Given the description of an element on the screen output the (x, y) to click on. 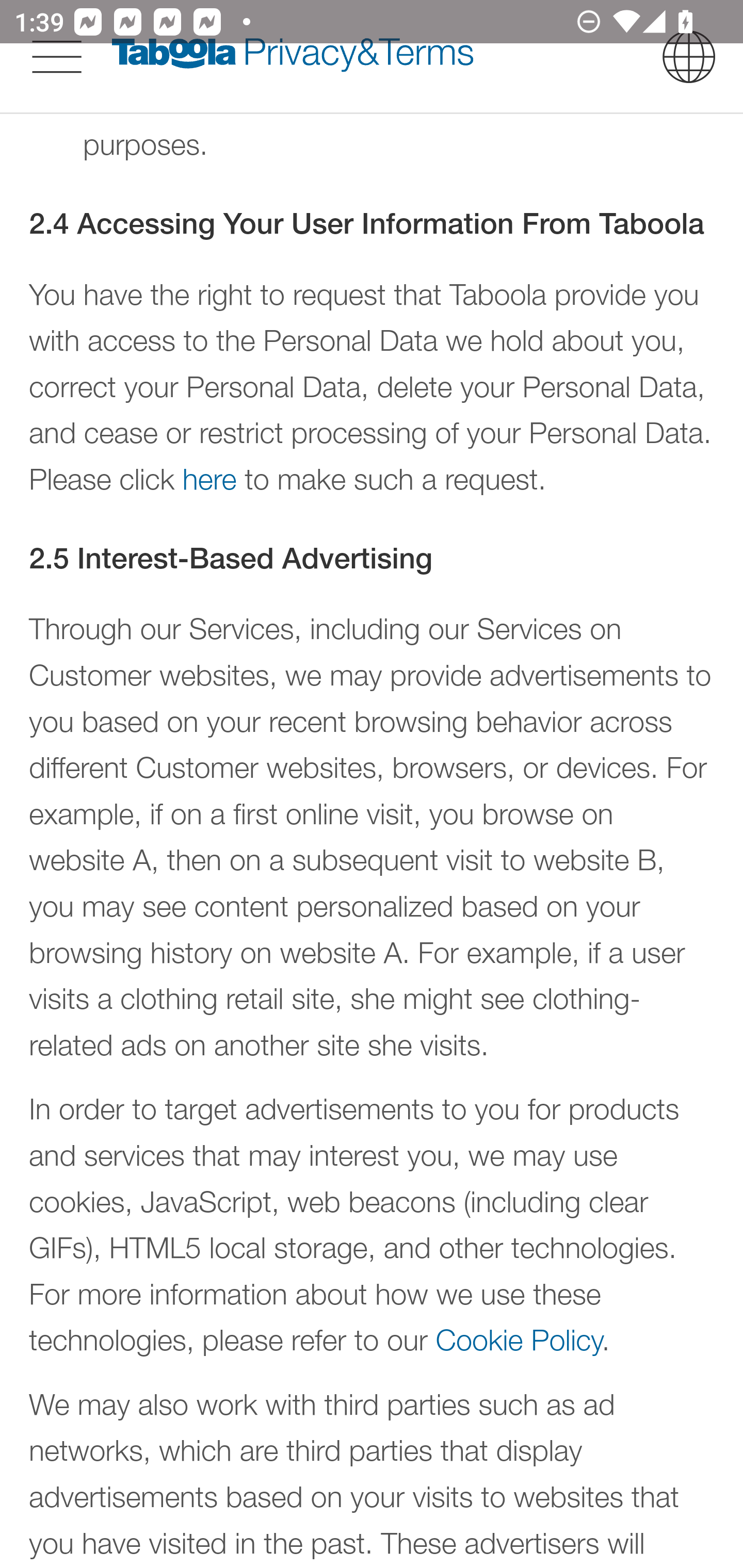
Taboola Privacy & Terms Logo (292, 55)
English (688, 55)
here (209, 477)
Cookie Policy (518, 1339)
